Given the description of an element on the screen output the (x, y) to click on. 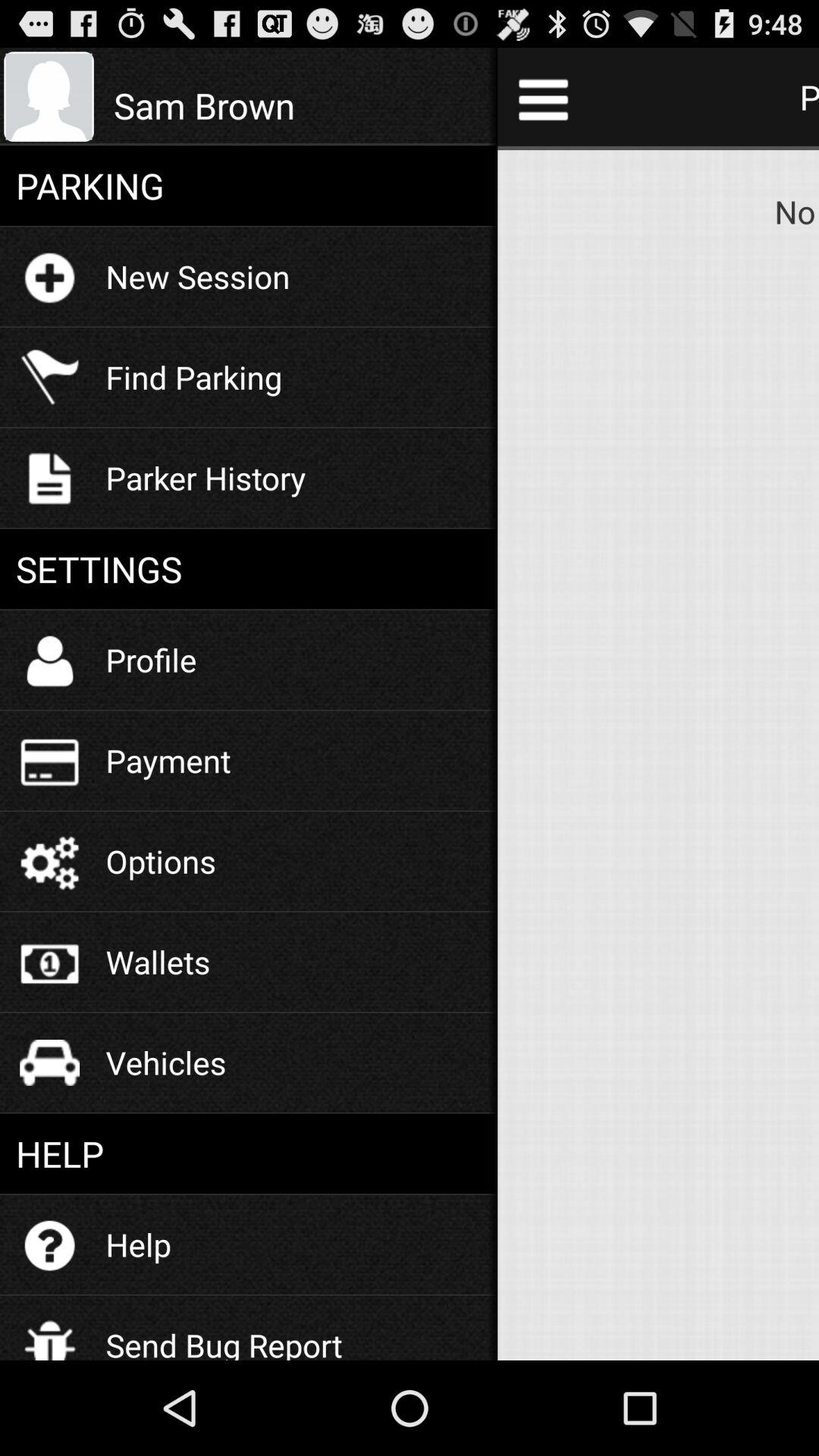
press the icon above parker history item (193, 376)
